Given the description of an element on the screen output the (x, y) to click on. 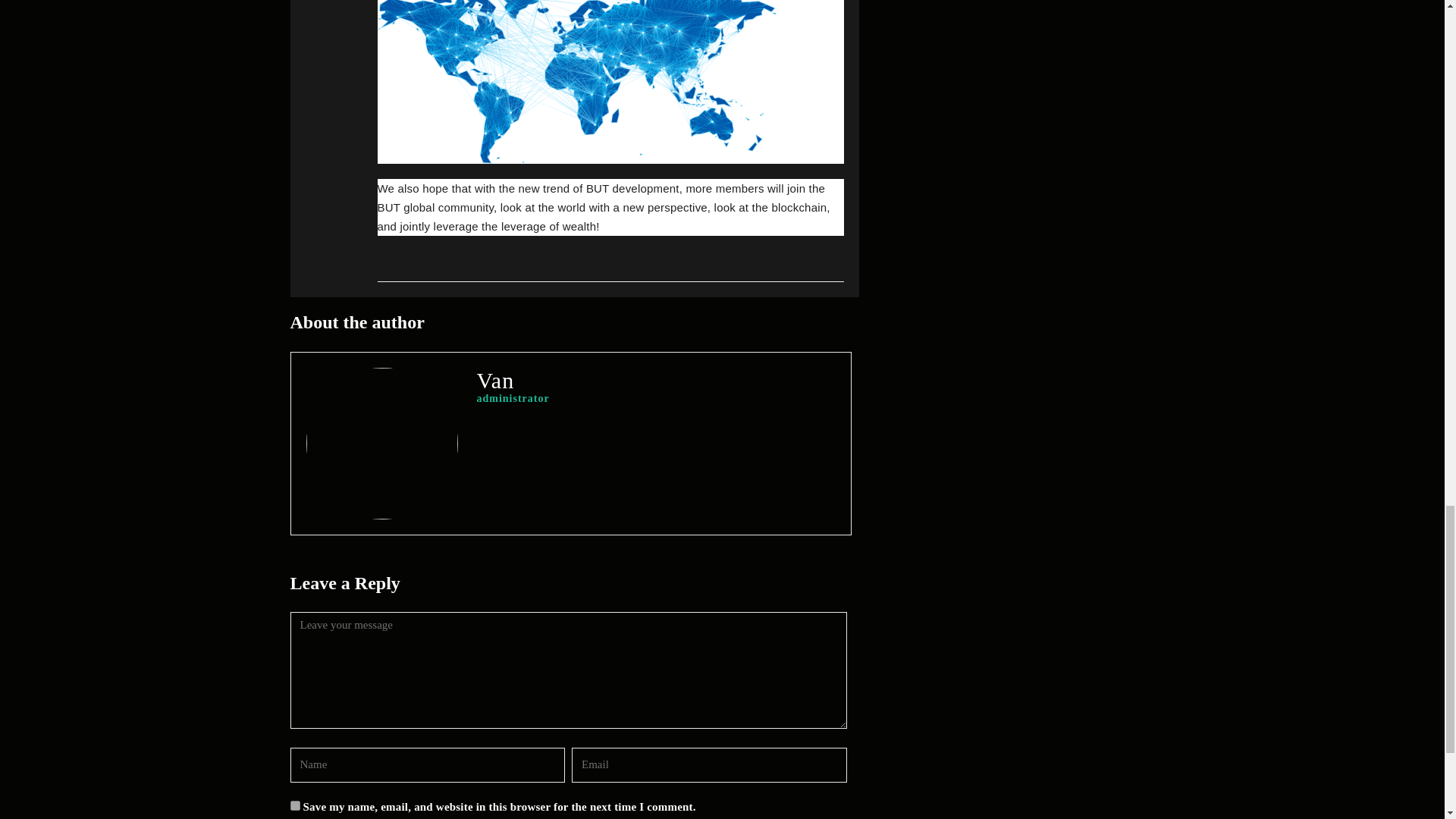
yes (294, 805)
